Given the description of an element on the screen output the (x, y) to click on. 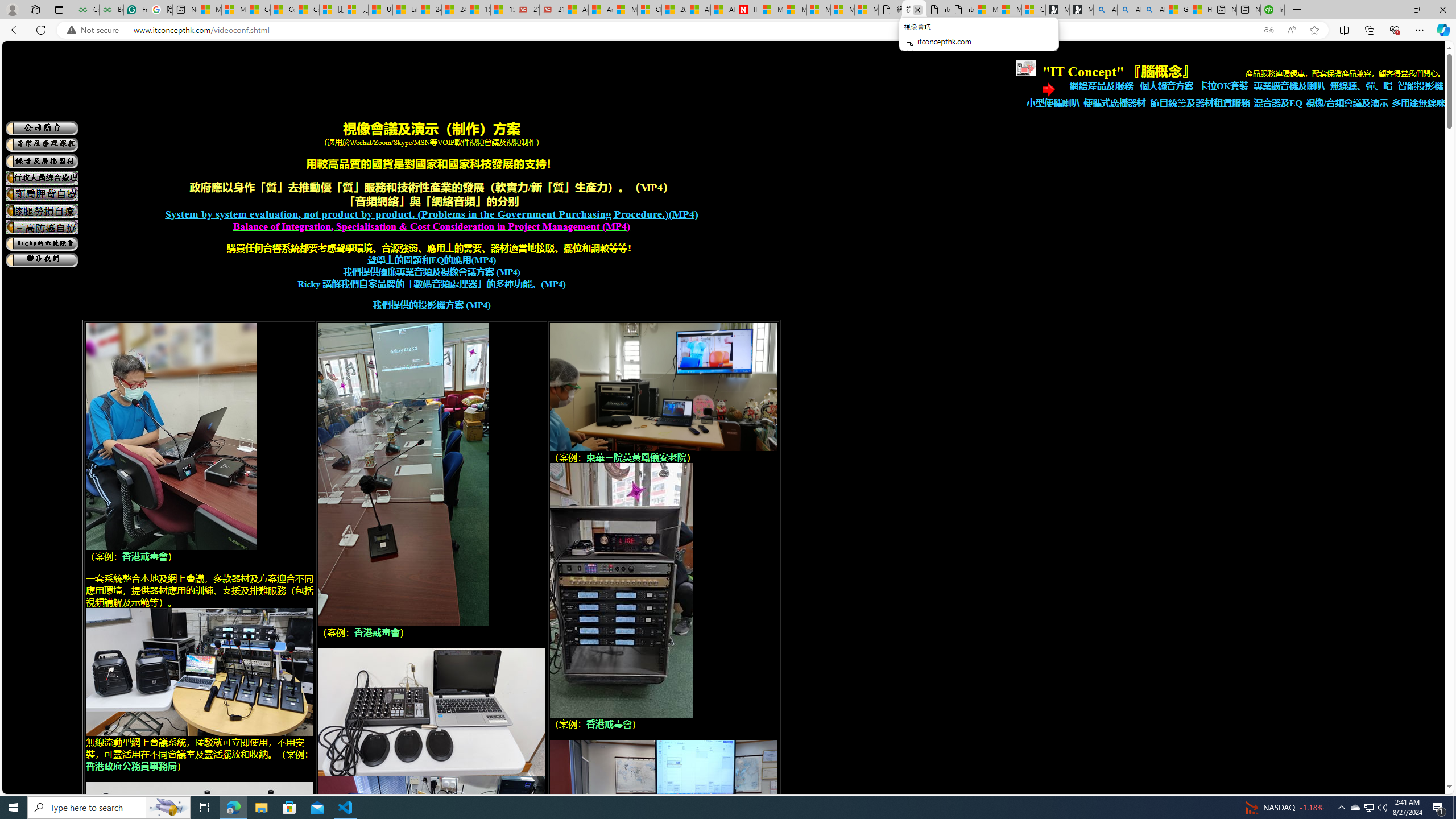
Complete Guide to Arrays Data Structure - GeeksforGeeks (86, 9)
Show translate options (1268, 29)
Lifestyle - MSN (404, 9)
zoom camera, zoom cam, (663, 386)
Intuit QuickBooks Online - Quickbooks (1272, 9)
